Given the description of an element on the screen output the (x, y) to click on. 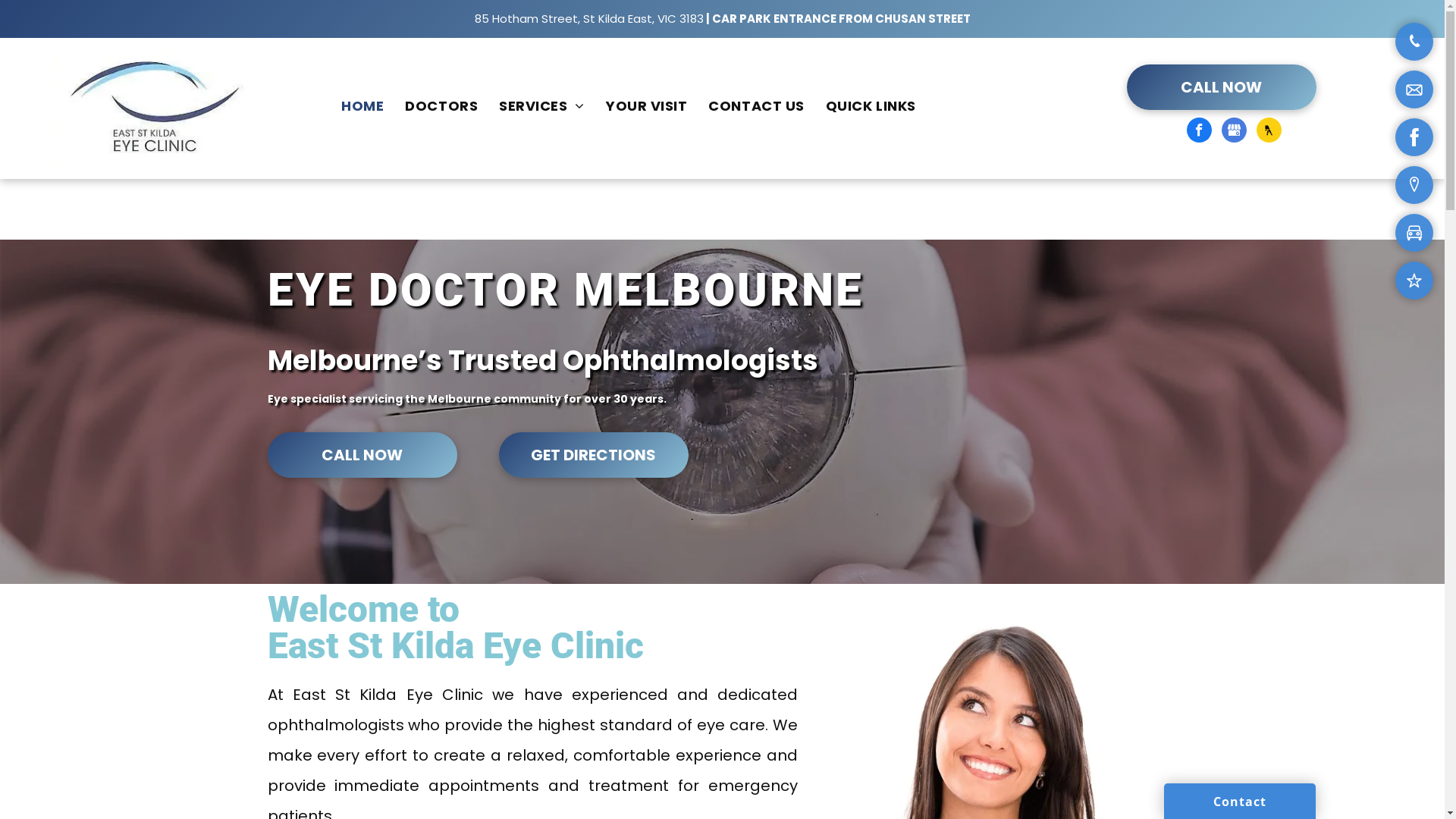
YOUR VISIT Element type: text (646, 105)
CALL NOW Element type: text (361, 454)
CONTACT US Element type: text (755, 105)
SERVICES Element type: text (541, 105)
QUICK LINKS Element type: text (870, 105)
HOME Element type: text (362, 105)
East St. Kilda Eye Clinic Element type: hover (154, 108)
GET DIRECTIONS Element type: text (593, 454)
DOCTORS Element type: text (441, 105)
CALL NOW Element type: text (1221, 86)
85 Hotham Street, St Kilda East, VIC 3183 Element type: text (588, 18)
